Given the description of an element on the screen output the (x, y) to click on. 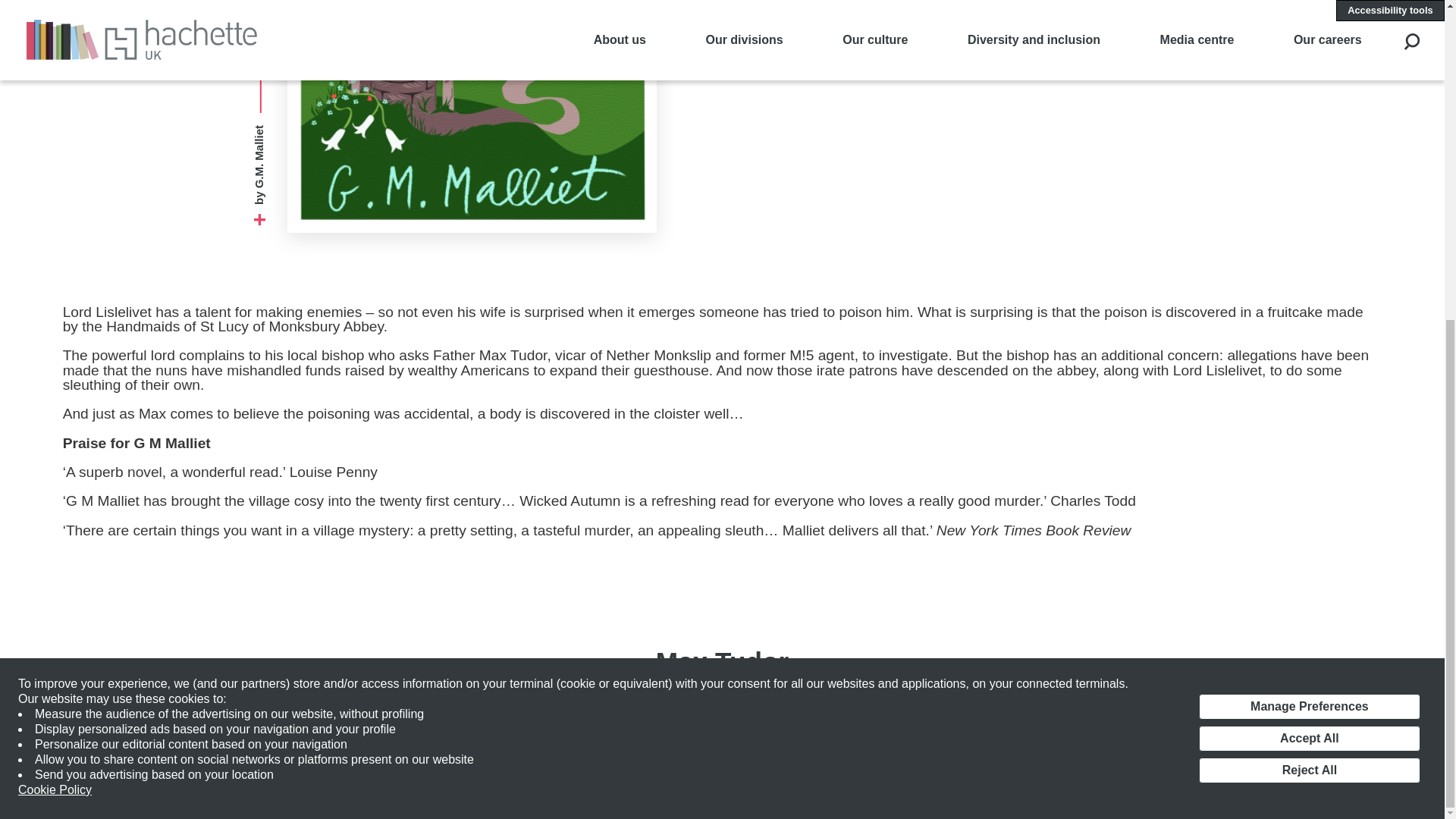
Manage Preferences (1309, 188)
Cookie Policy (54, 272)
Accept All (1309, 220)
Reject All (1309, 252)
